Given the description of an element on the screen output the (x, y) to click on. 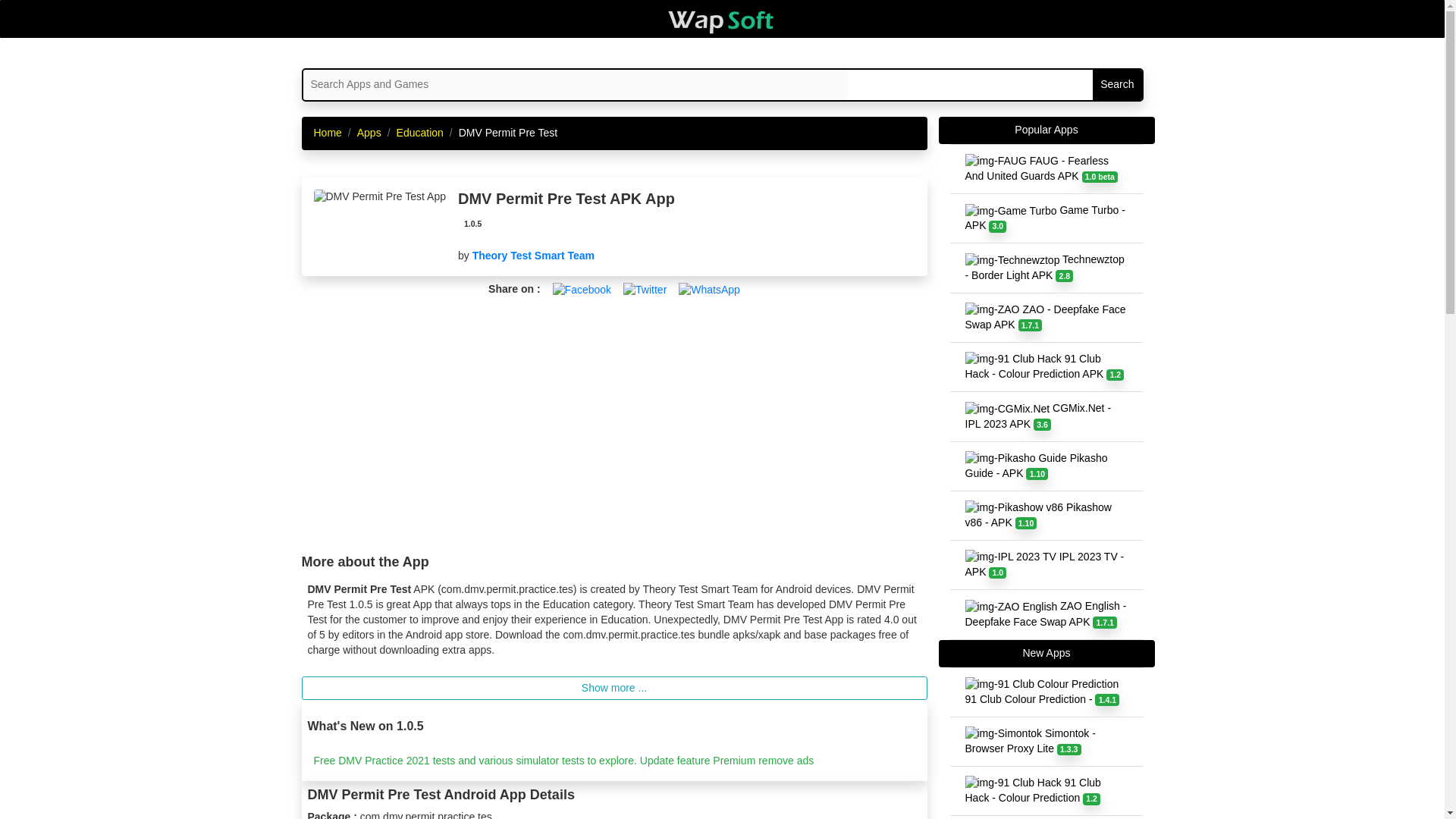
Pikasho Guide - APK 1.10 (1045, 466)
android apk Apps (368, 132)
DMV Permit Pre Test (379, 196)
Search (1117, 84)
91 Club Hack - Colour Prediction 1.2 (1045, 790)
Education (420, 132)
Share on Twitter (644, 288)
91 Club Colour Prediction - 1.4.1 (1045, 692)
Free Education APK apps (420, 132)
WapSoft (721, 21)
Pikashow v86 - APK 1.10 (1045, 515)
Technewztop - Border Light APK 2.8 (1045, 267)
Search (1117, 84)
FAUG - Fearless And United Guards APK 1.0 beta (1045, 169)
CGMix.Net - IPL 2023 APK 3.6 (1045, 416)
